Given the description of an element on the screen output the (x, y) to click on. 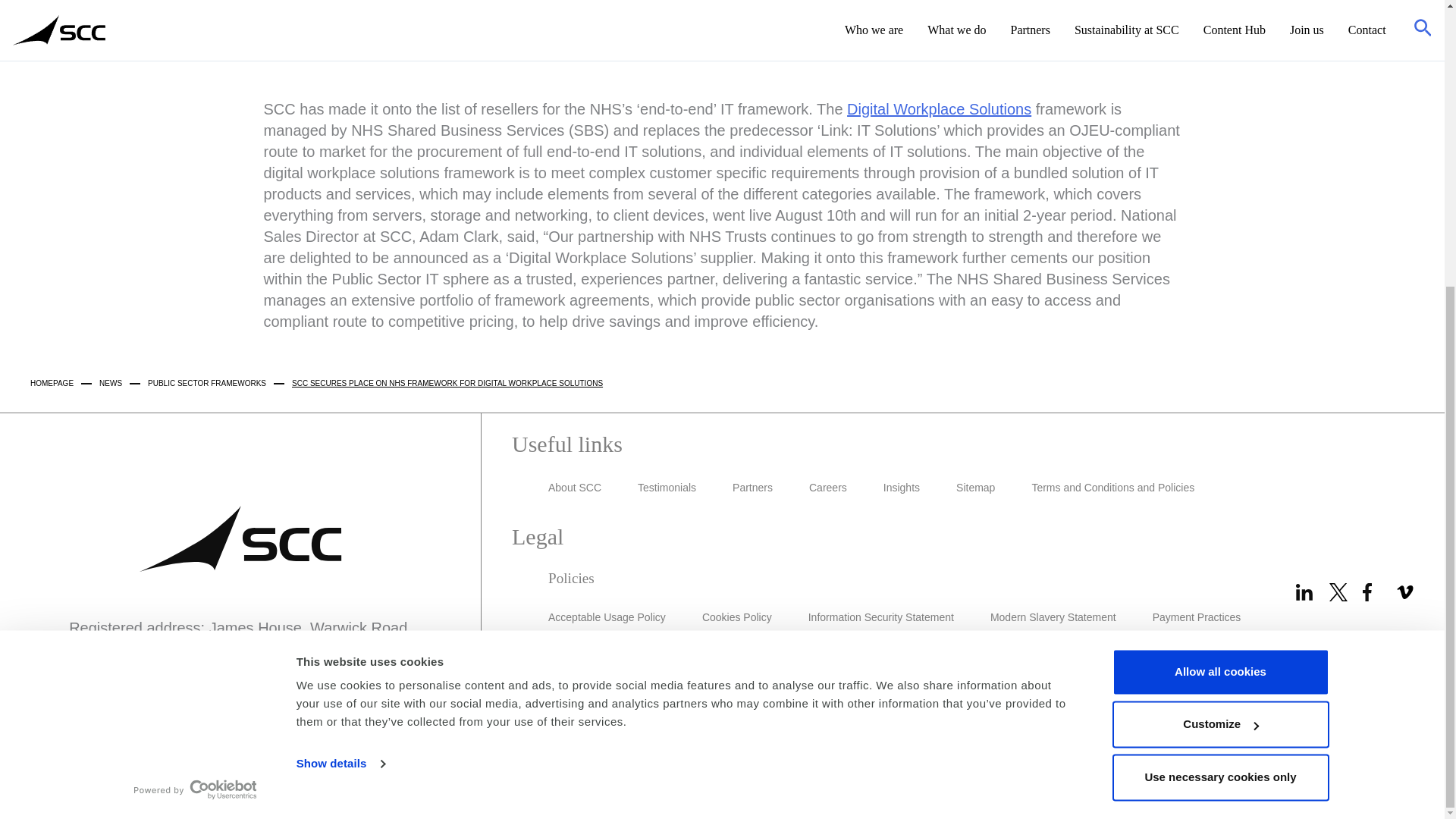
Show details (340, 331)
